Given the description of an element on the screen output the (x, y) to click on. 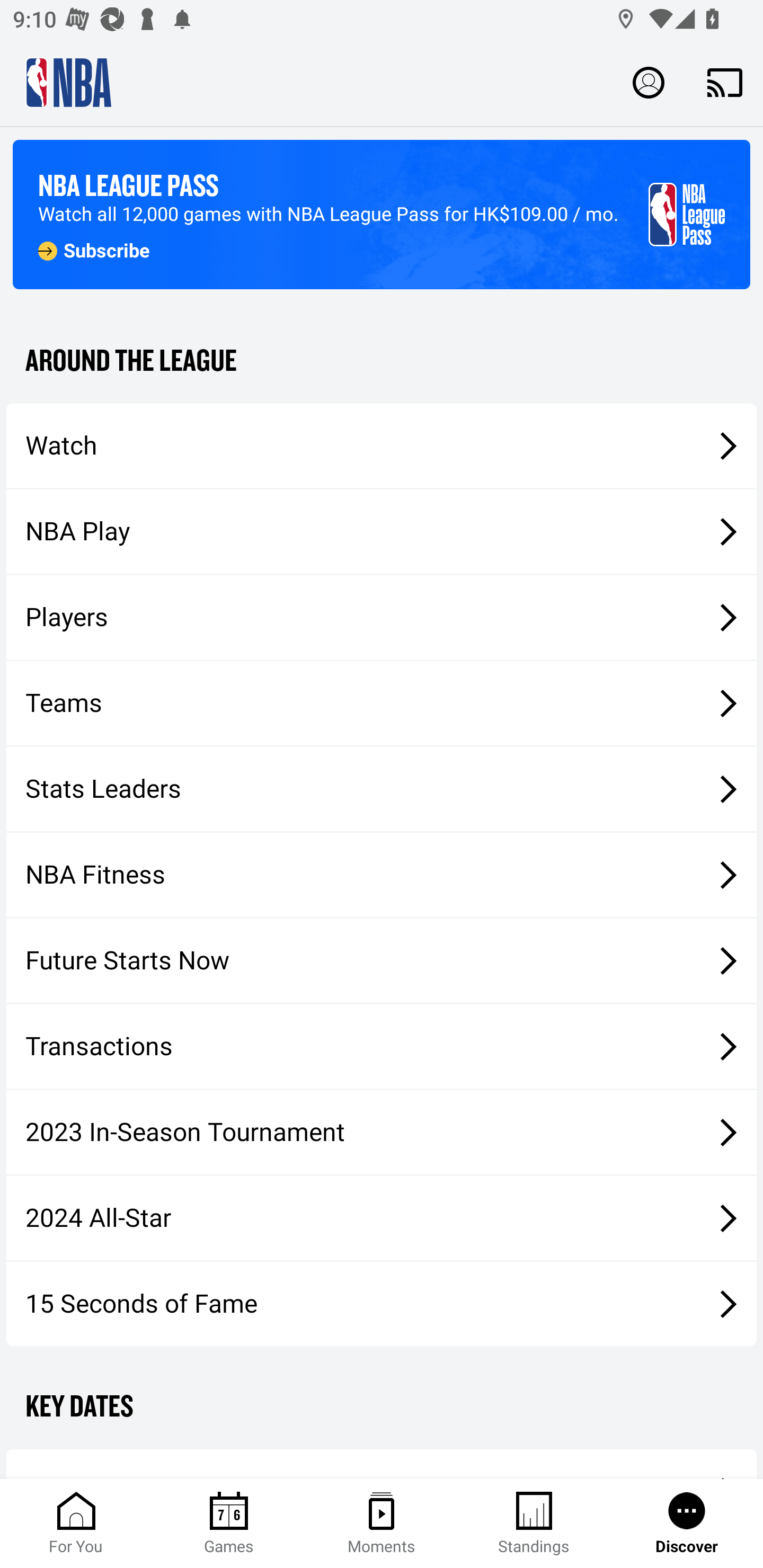
Cast. Disconnected (724, 82)
Profile (648, 81)
Watch (381, 444)
NBA Play (381, 531)
Players (381, 617)
Teams (381, 702)
Stats Leaders (381, 788)
NBA Fitness (381, 874)
Future Starts Now (381, 960)
Transactions (381, 1046)
2023 In-Season Tournament (381, 1131)
2024 All-Star (381, 1218)
15 Seconds of Fame (381, 1303)
For You (76, 1523)
Games (228, 1523)
Moments (381, 1523)
Standings (533, 1523)
